Given the description of an element on the screen output the (x, y) to click on. 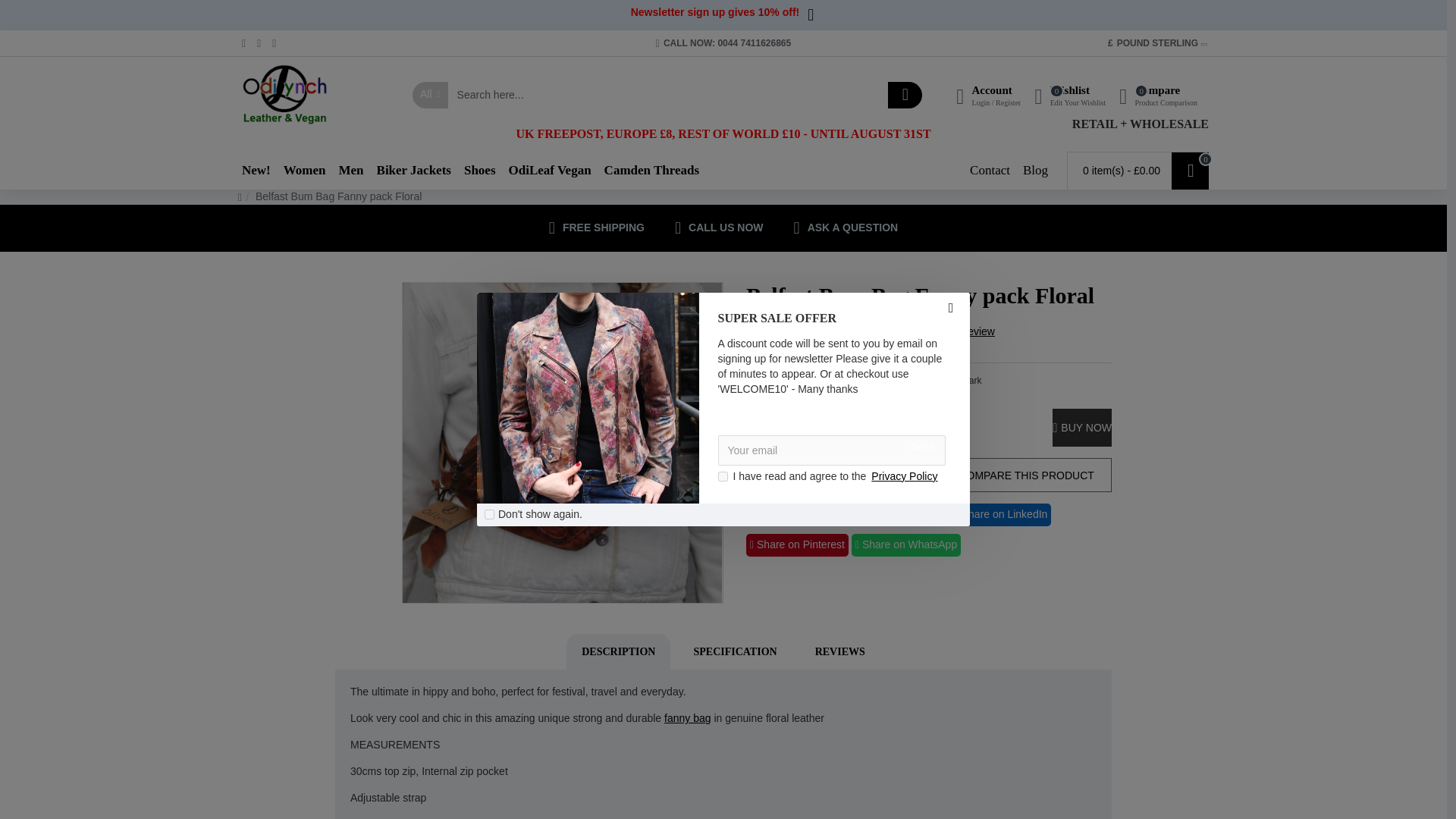
Privacy Policy (904, 476)
1 (721, 476)
Odi Lynch (284, 94)
Send (920, 445)
1 (768, 427)
on (489, 514)
CALL NOW: 0044 7411626865 (723, 43)
Belfast Bum Bag Fanny pack Floral (562, 442)
